Given the description of an element on the screen output the (x, y) to click on. 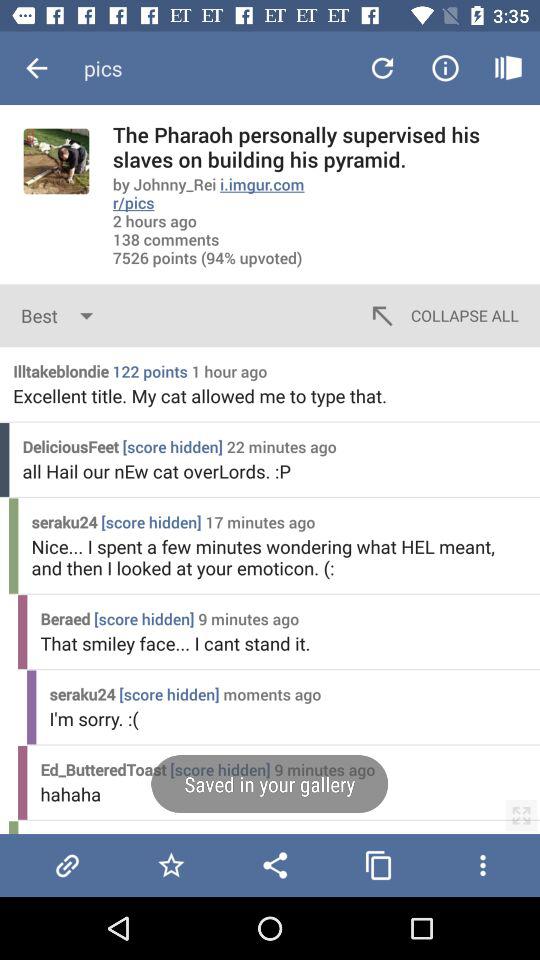
copy this (378, 865)
